Given the description of an element on the screen output the (x, y) to click on. 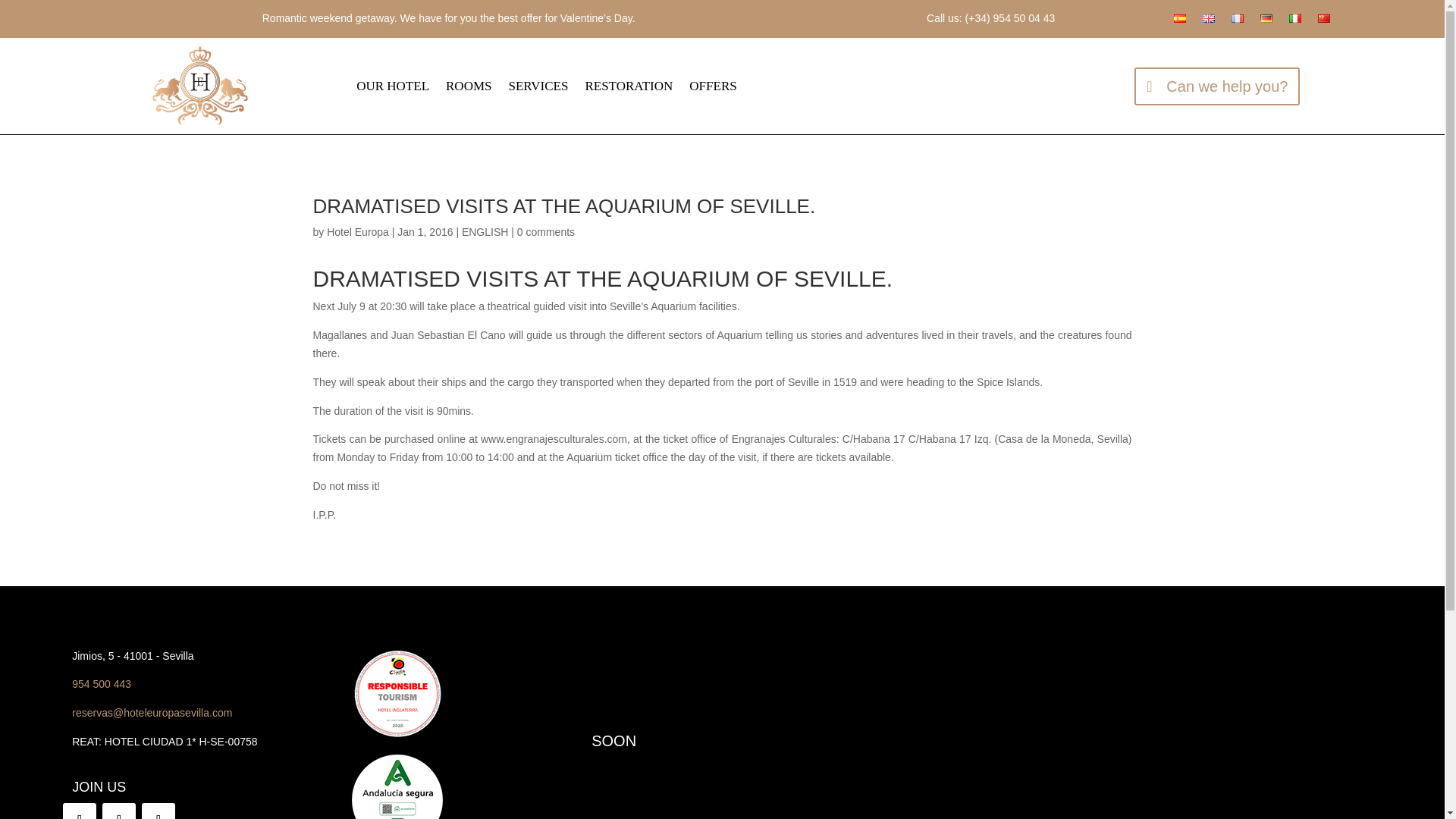
Follow on X (157, 811)
Follow on Instagram (118, 811)
OUR HOTEL (392, 85)
ROOMS (468, 85)
RESTORATION (628, 85)
Can we help you? (1217, 85)
Follow on Facebook (79, 811)
Hotel Europa (357, 232)
OFFERS (712, 85)
SERVICES (537, 85)
Posts by Hotel Europa (357, 232)
